Given the description of an element on the screen output the (x, y) to click on. 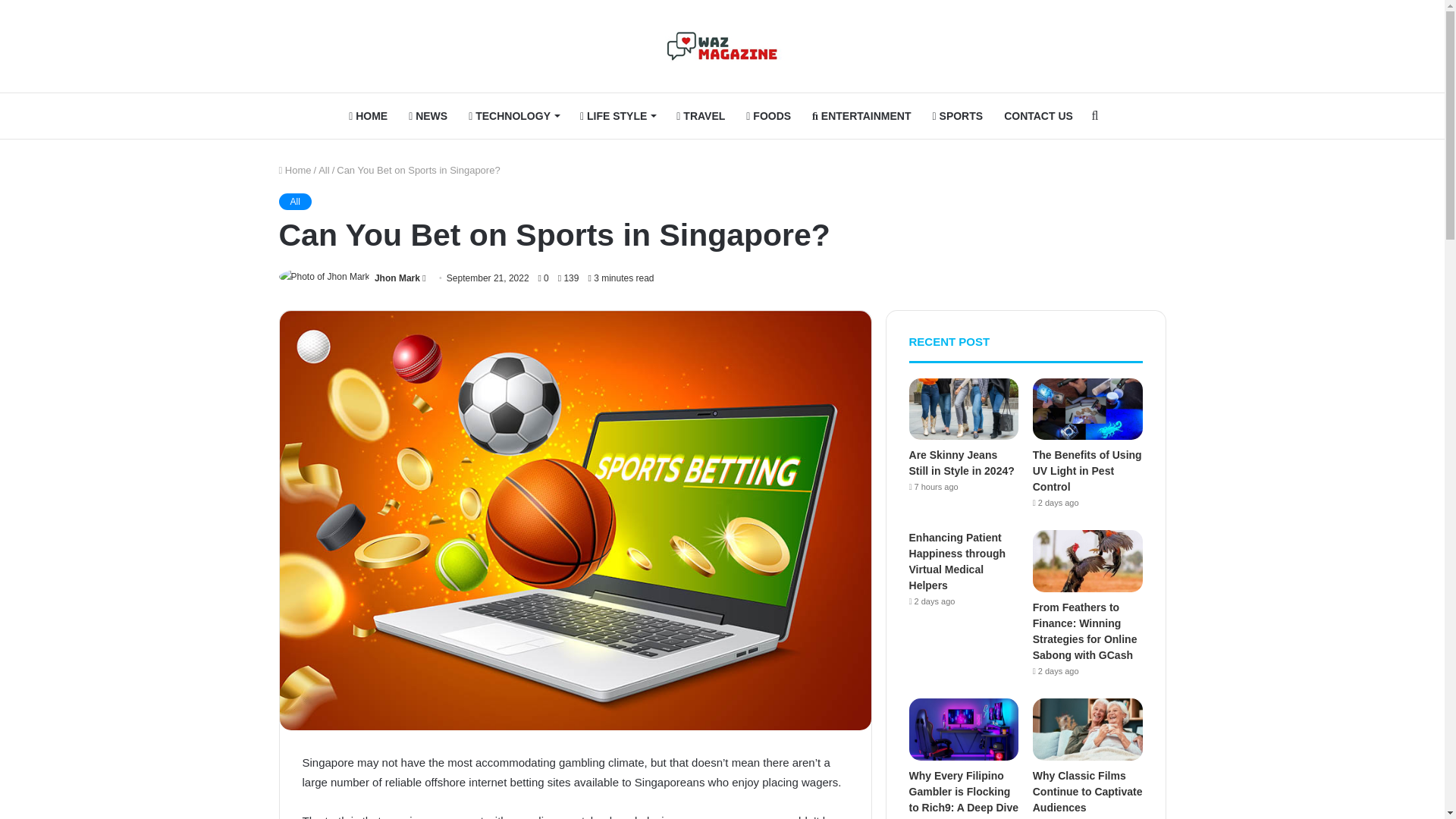
TRAVEL (700, 115)
CONTACT US (1037, 115)
Jhon Mark (397, 277)
HOME (367, 115)
NEWS (427, 115)
TECHNOLOGY (513, 115)
All (323, 170)
WazMagazine.com (721, 46)
All (295, 201)
SPORTS (957, 115)
